Given the description of an element on the screen output the (x, y) to click on. 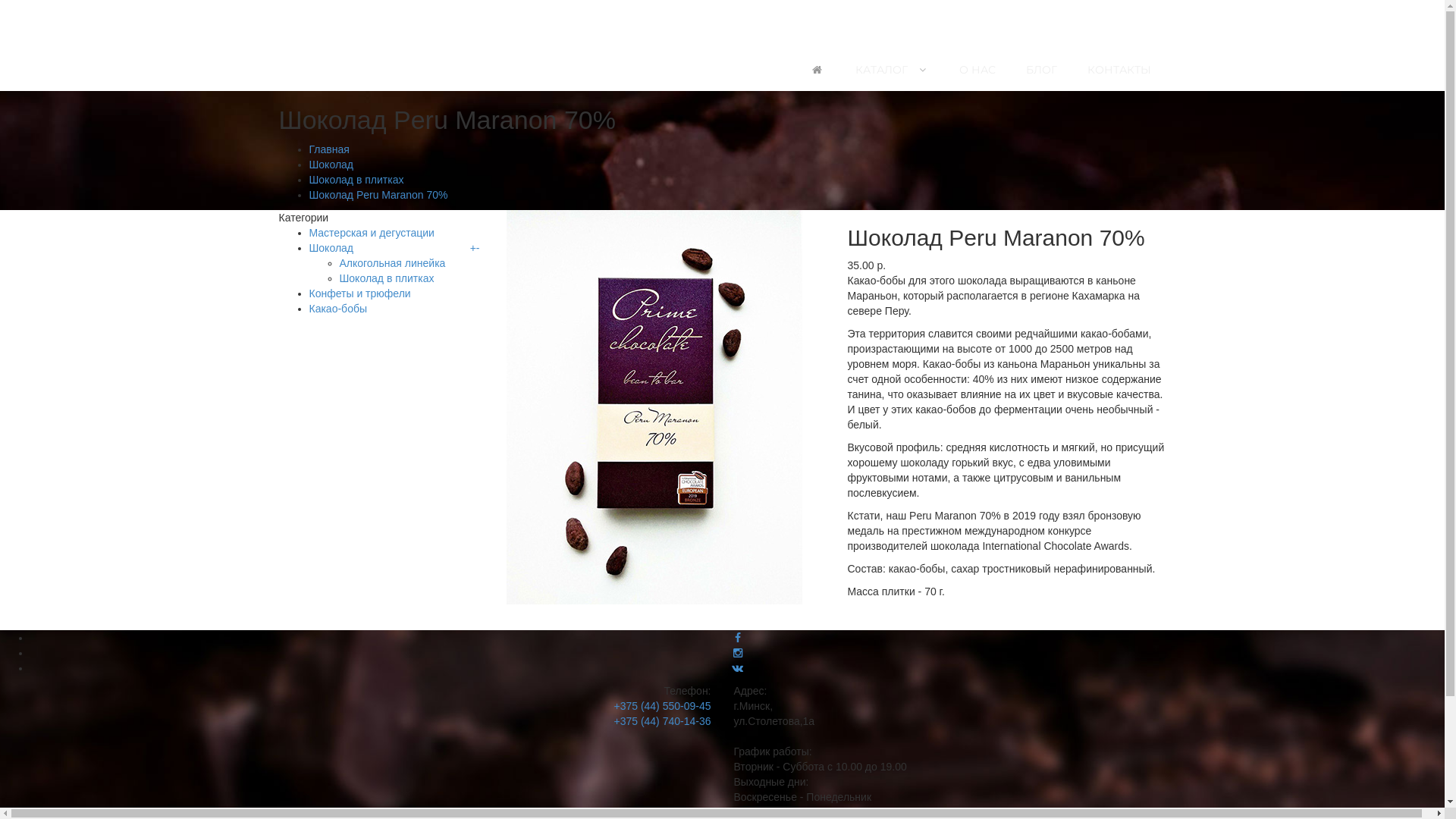
+375 (44) 740-14-36 Element type: text (661, 721)
+375 (44) 550-09-45 Element type: text (661, 705)
Prime chocolate Element type: hover (411, 20)
+- Element type: text (476, 247)
